Given the description of an element on the screen output the (x, y) to click on. 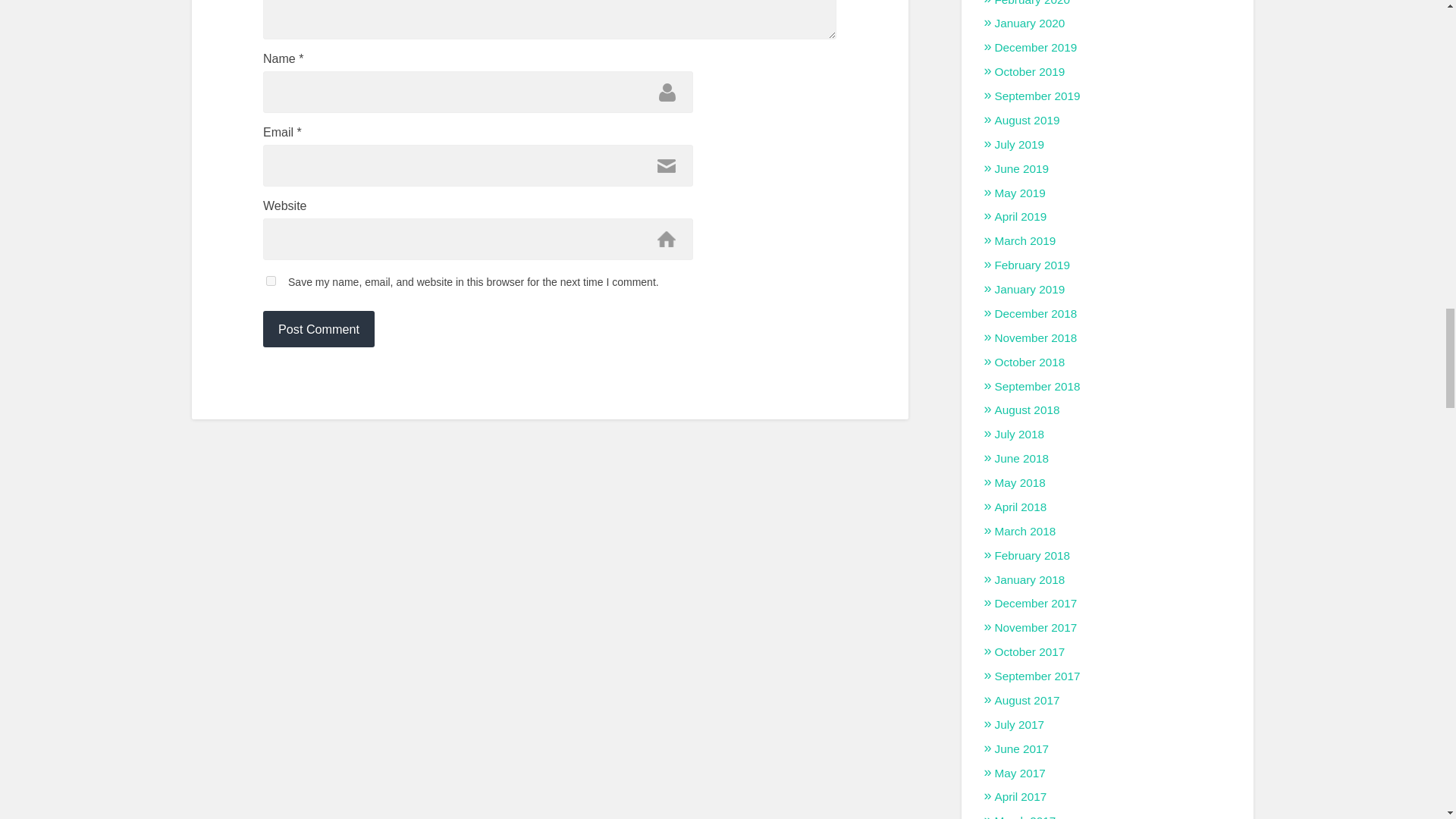
yes (271, 280)
Post Comment (318, 329)
Post Comment (318, 329)
